Given the description of an element on the screen output the (x, y) to click on. 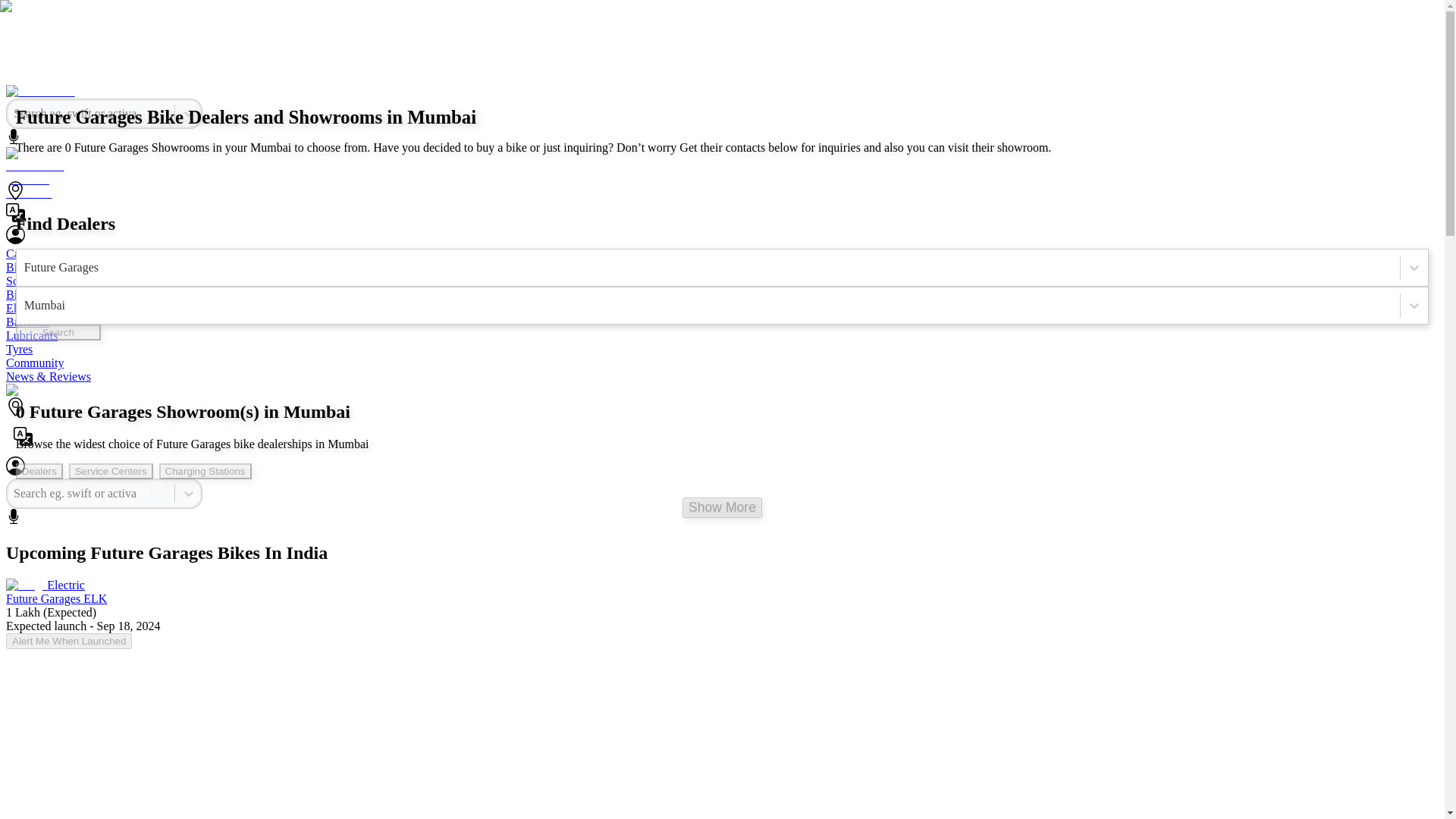
Future Garages ELK (55, 598)
Community (34, 362)
Alert Me When Launched (68, 641)
Cars (16, 253)
Batteries (27, 321)
Service Centers (110, 471)
Lubricants (31, 335)
Carbike360 (40, 390)
Future Garages ELK bike (55, 598)
Search (58, 332)
Scooters (26, 280)
Bikes (19, 267)
Tyres (18, 349)
Charging Stations (204, 471)
carbike360-youtube-subscribe (39, 173)
